Given the description of an element on the screen output the (x, y) to click on. 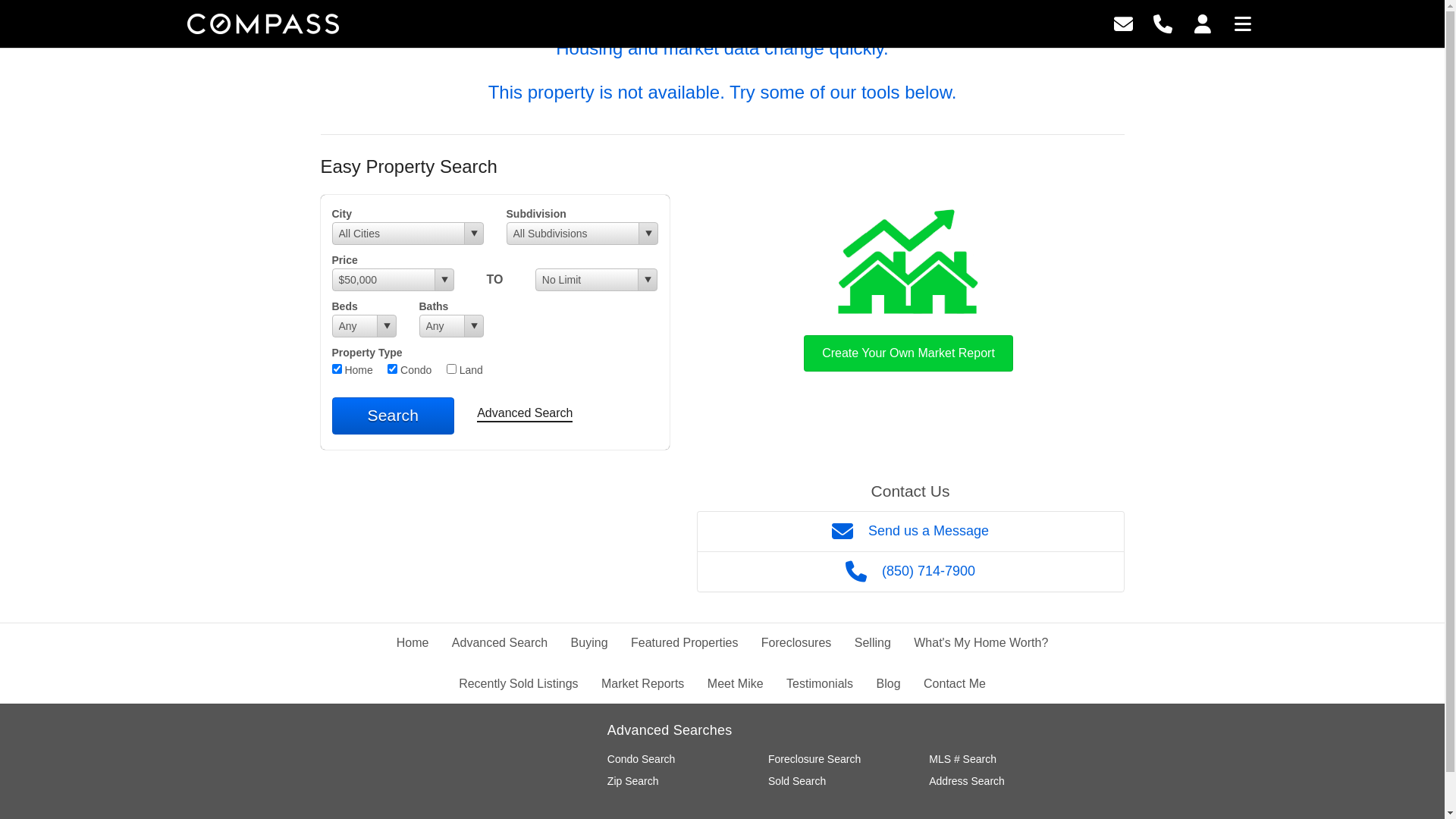
(850) 714-7900 Element type: text (909, 571)
Sold Search Element type: text (796, 781)
Contact Me Element type: text (954, 683)
Menu Element type: hover (1242, 22)
Recently Sold Listings Element type: text (517, 683)
Foreclosure Search Element type: text (814, 759)
What's My Home Worth? Element type: text (980, 642)
Blog Element type: text (888, 683)
Open contact form Element type: hover (1122, 22)
Login or Signup Element type: hover (1202, 22)
MLS # Search Element type: text (962, 759)
Zip Search Element type: text (632, 781)
Market Reports Element type: text (642, 683)
Contact by Phone Element type: hover (1162, 22)
Create Your Own Market Report Element type: text (908, 286)
Address Search Element type: text (966, 781)
Featured Properties Element type: text (683, 642)
Advanced Search Element type: text (524, 414)
Selling Element type: text (872, 642)
Buying Element type: text (589, 642)
Advanced Search Element type: text (499, 642)
Search Element type: text (393, 415)
Meet Mike Element type: text (735, 683)
Testimonials Element type: text (819, 683)
Foreclosures Element type: text (796, 642)
Condo Search Element type: text (641, 759)
Send us a Message Element type: text (909, 531)
Home Element type: text (412, 642)
